Given the description of an element on the screen output the (x, y) to click on. 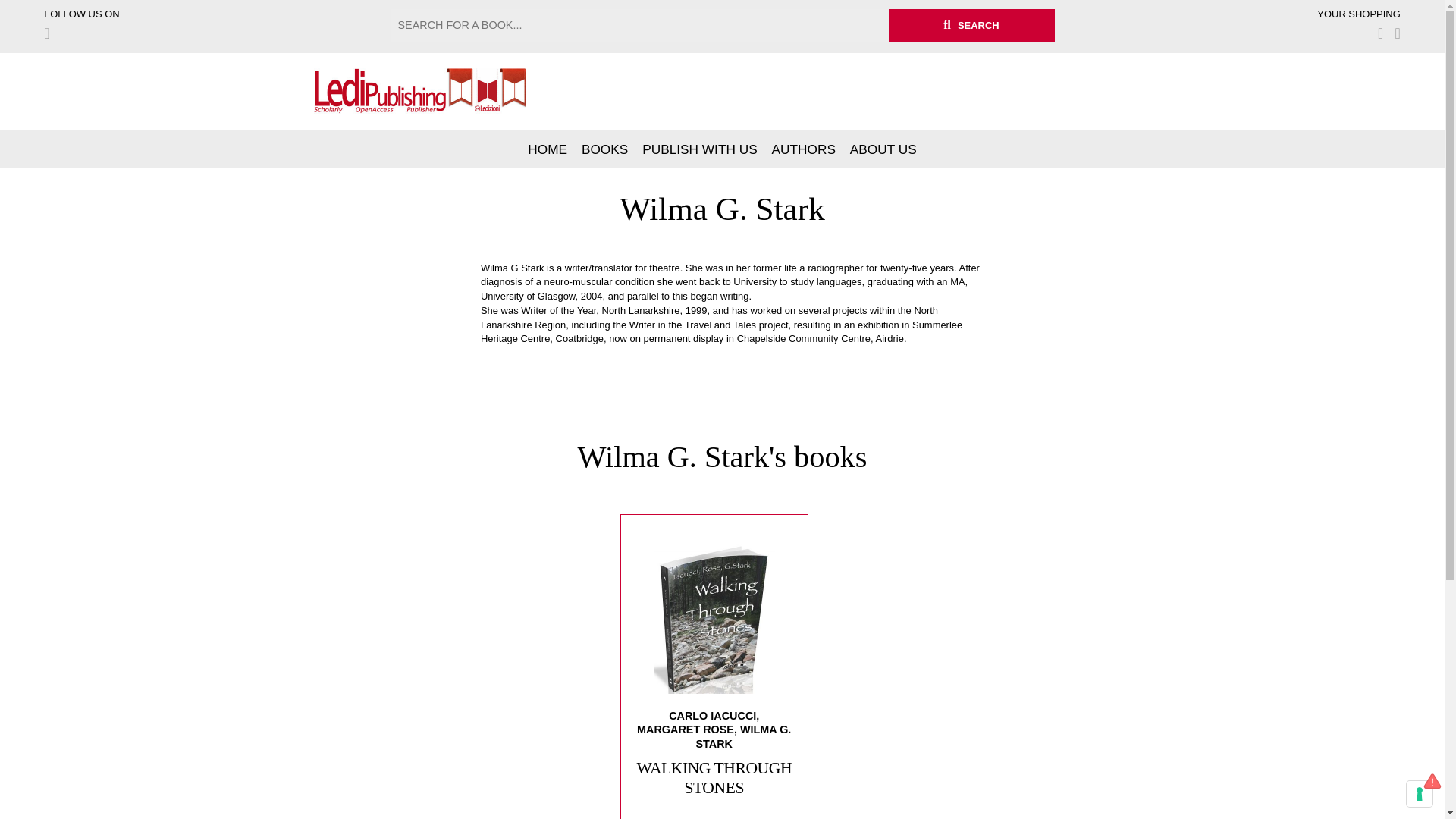
BOOKS (603, 149)
SEARCH (971, 25)
PUBLISH WITH US (699, 149)
ABOUT US (883, 149)
HOME (547, 149)
AUTHORS (803, 149)
